Given the description of an element on the screen output the (x, y) to click on. 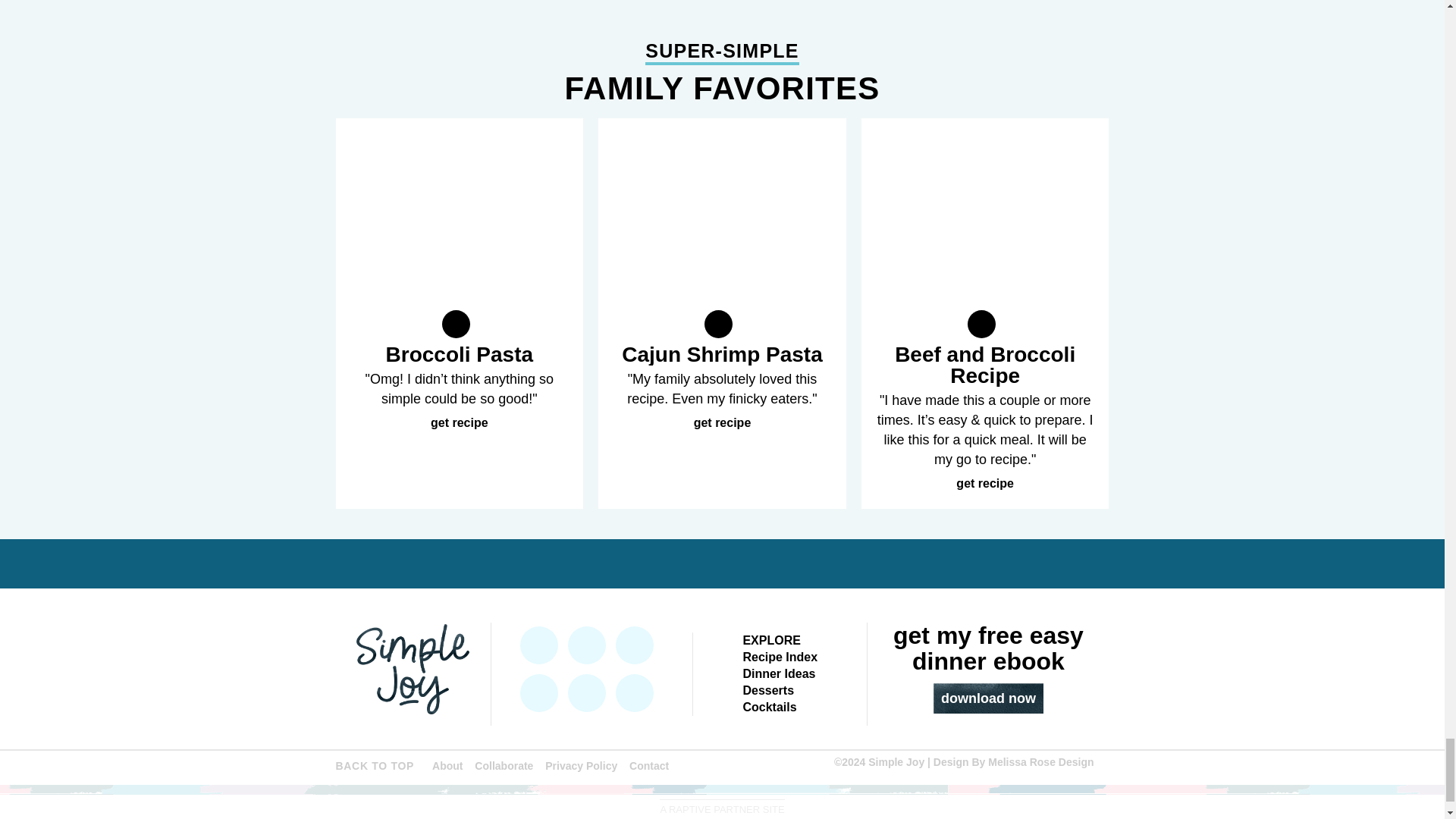
Recipe Index (779, 656)
